Given the description of an element on the screen output the (x, y) to click on. 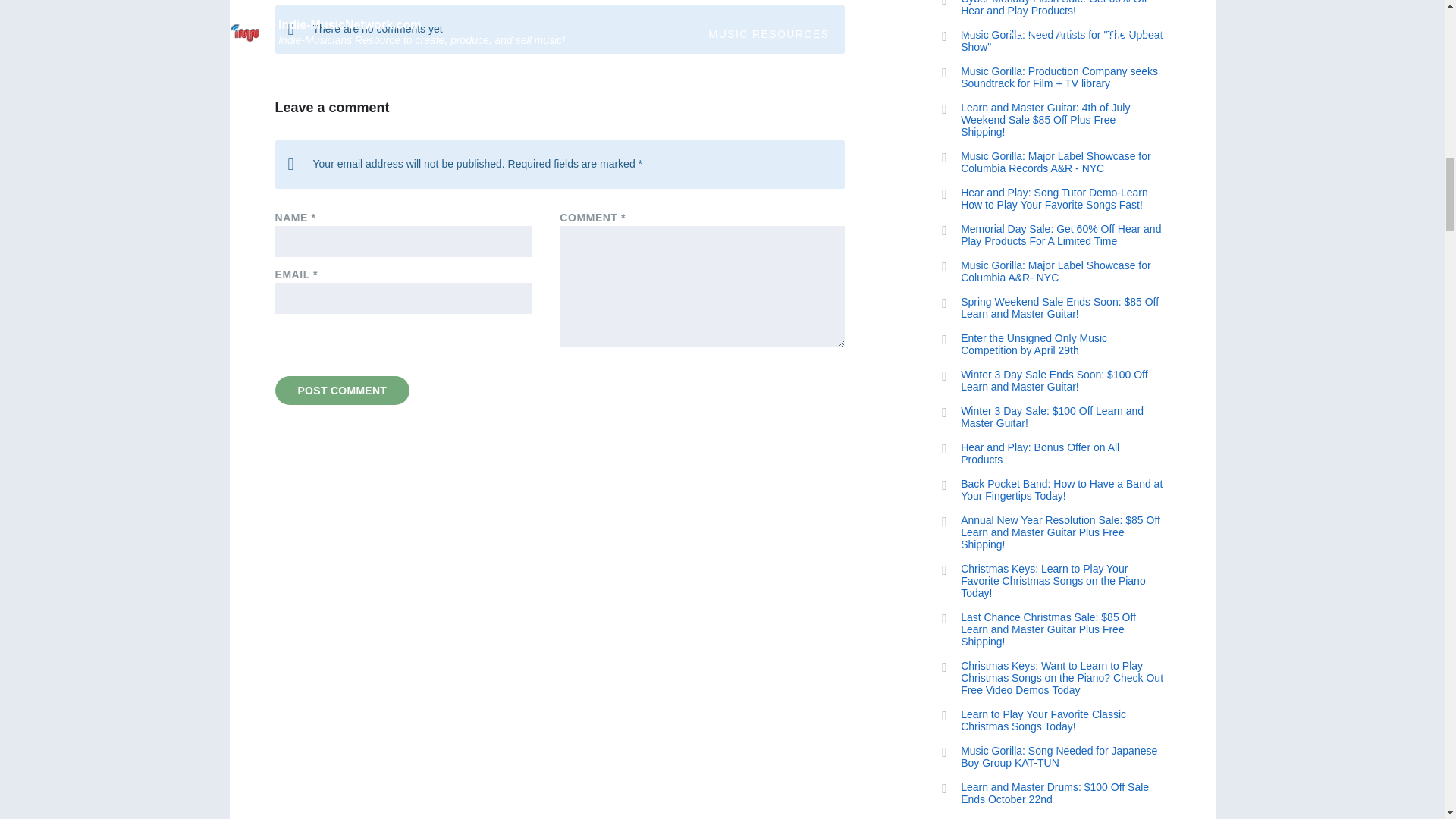
Post Comment (342, 389)
